Given the description of an element on the screen output the (x, y) to click on. 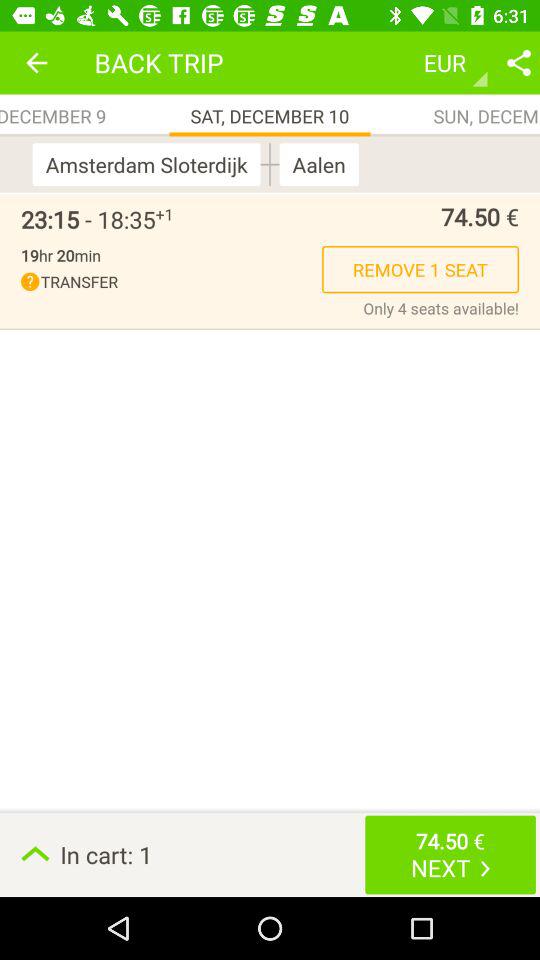
share the details (519, 62)
